Given the description of an element on the screen output the (x, y) to click on. 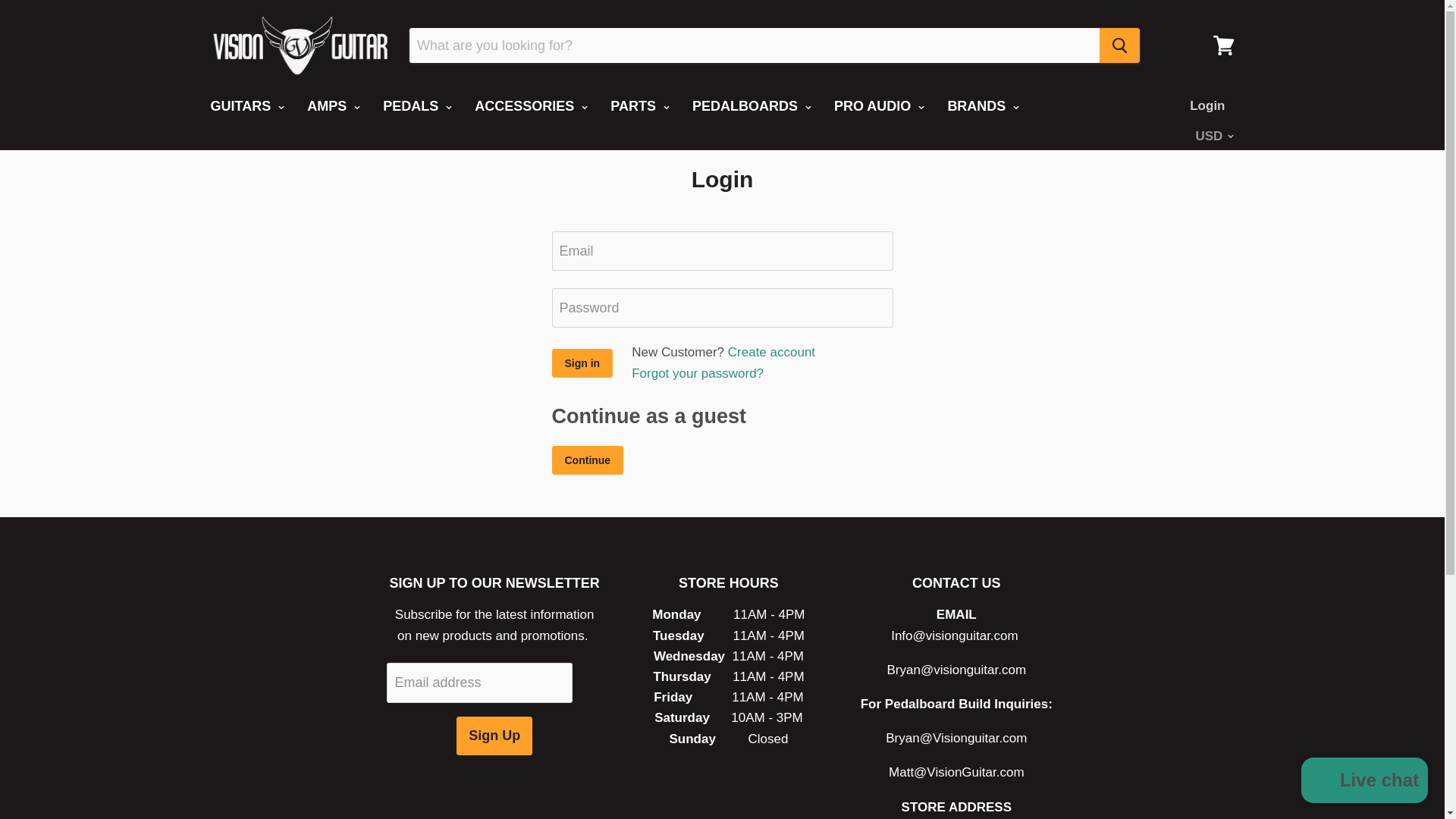
View cart (1223, 45)
Shopify online store chat (1364, 781)
ACCESSORIES (529, 105)
AMPS (331, 105)
PEDALS (415, 105)
GUITARS (245, 105)
PARTS (637, 105)
